Given the description of an element on the screen output the (x, y) to click on. 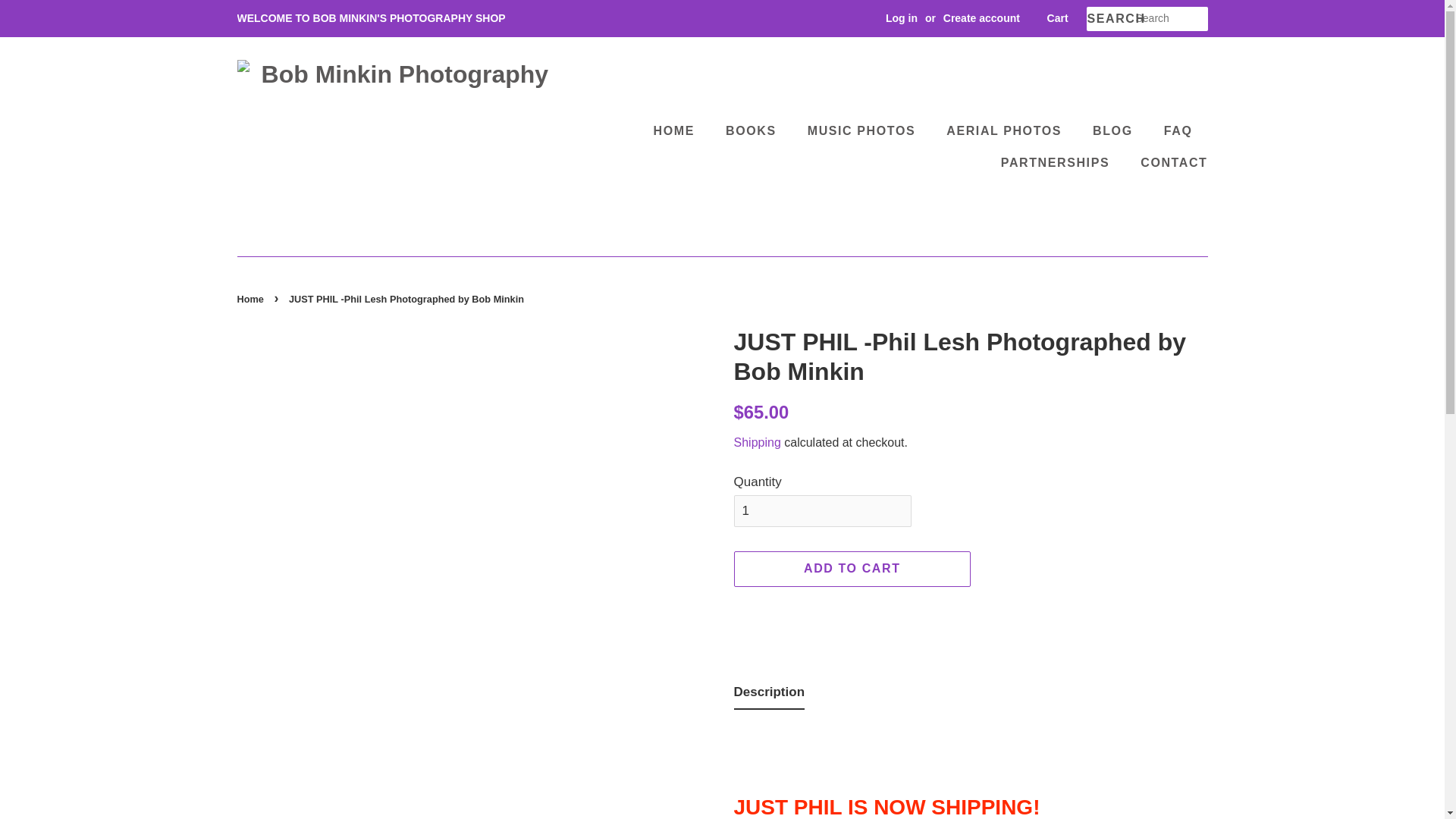
Back to the frontpage (250, 298)
Cart (1057, 18)
1 (822, 511)
Create account (981, 18)
SEARCH (1110, 18)
Log in (901, 18)
